Given the description of an element on the screen output the (x, y) to click on. 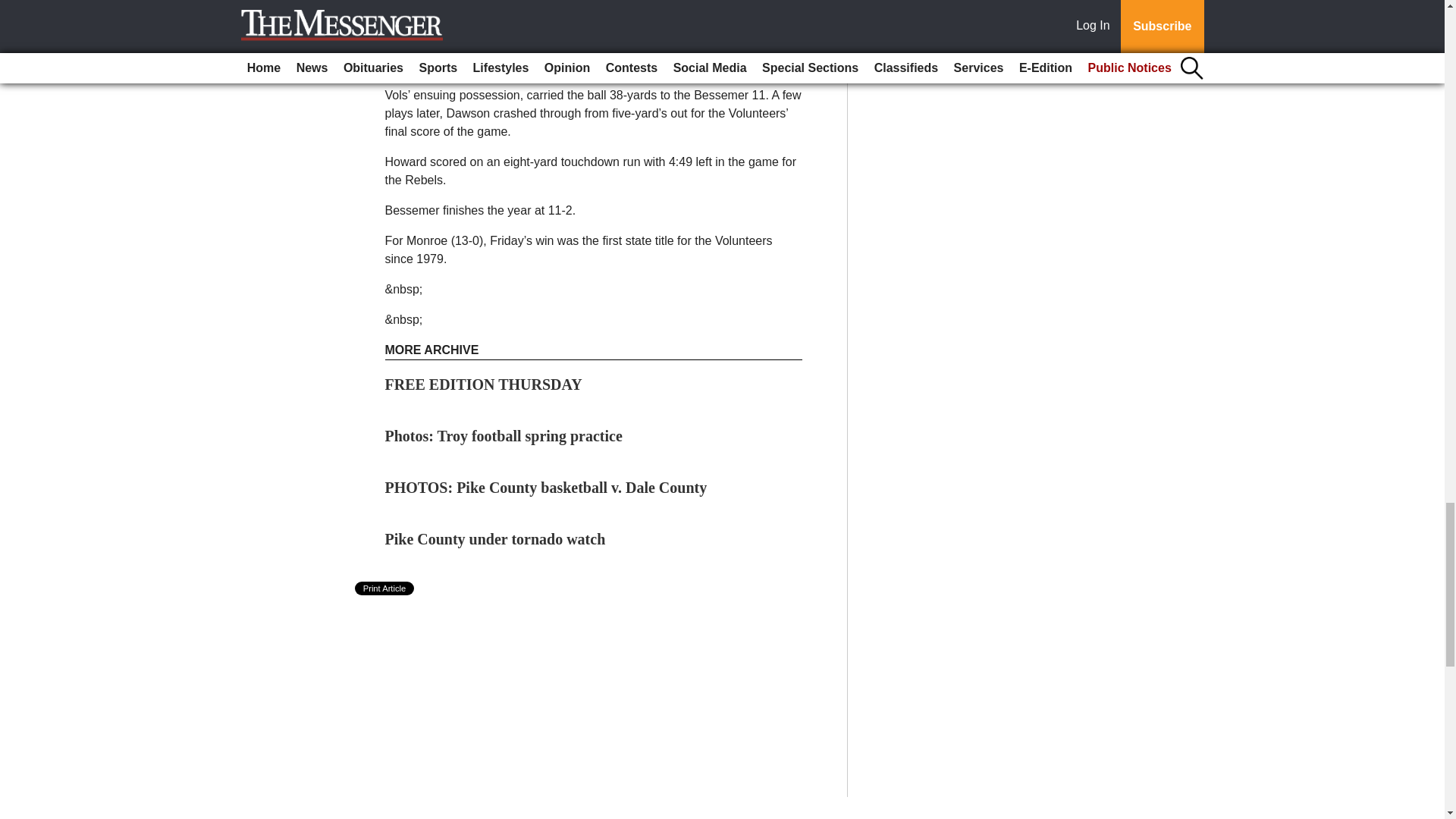
Pike County under tornado watch (495, 538)
PHOTOS: Pike County basketball v. Dale County (546, 487)
Photos: Troy football spring practice (504, 435)
FREE EDITION THURSDAY (483, 384)
